Given the description of an element on the screen output the (x, y) to click on. 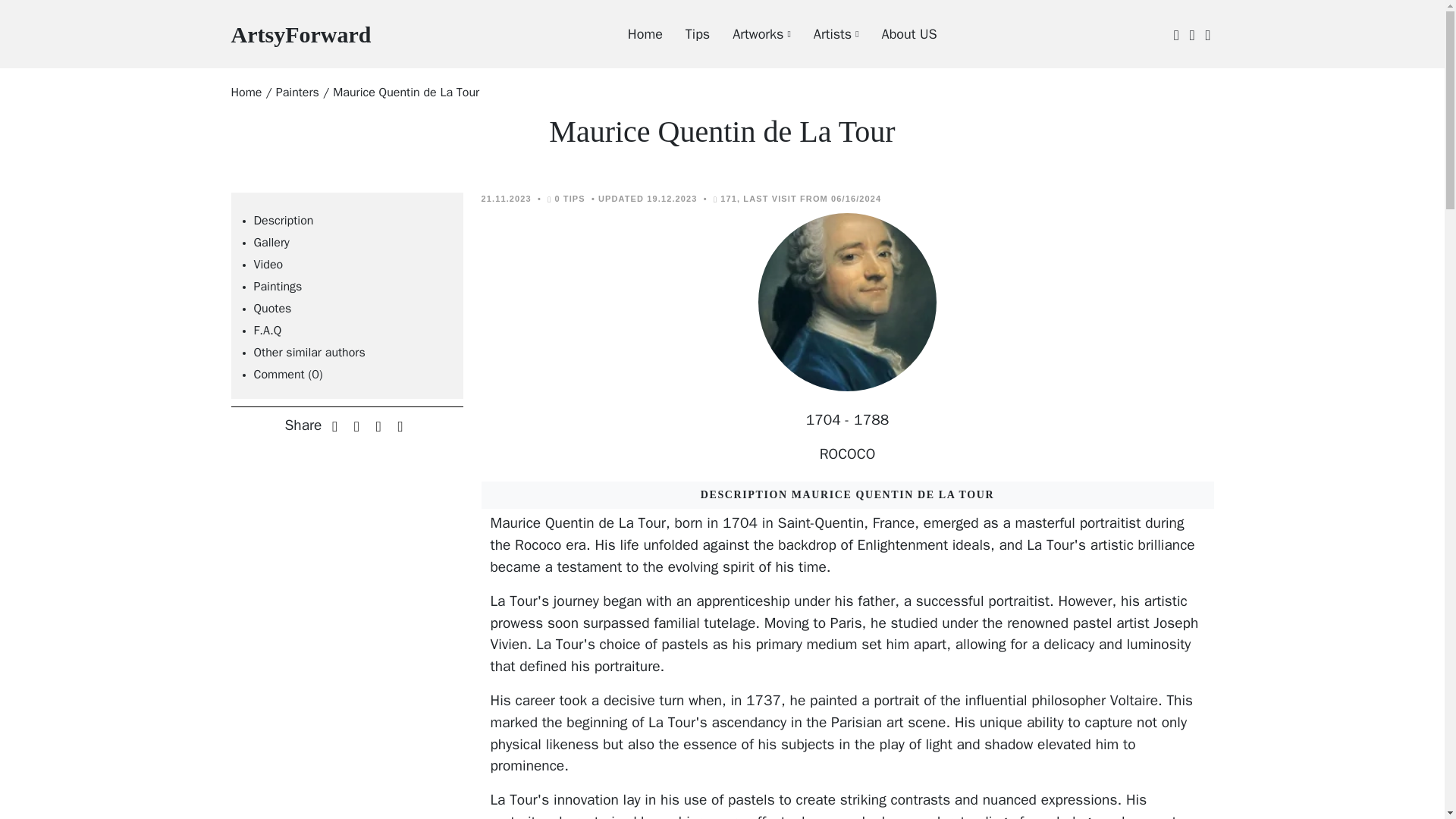
Home (633, 34)
Paintings (277, 286)
About US (898, 34)
Gallery (270, 242)
Home (246, 92)
Description (300, 33)
Video (283, 220)
Other similar authors (267, 264)
F.A.Q (309, 352)
home (267, 330)
Painters (246, 92)
Artworks (297, 92)
Artists (750, 34)
Quotes (824, 34)
